Given the description of an element on the screen output the (x, y) to click on. 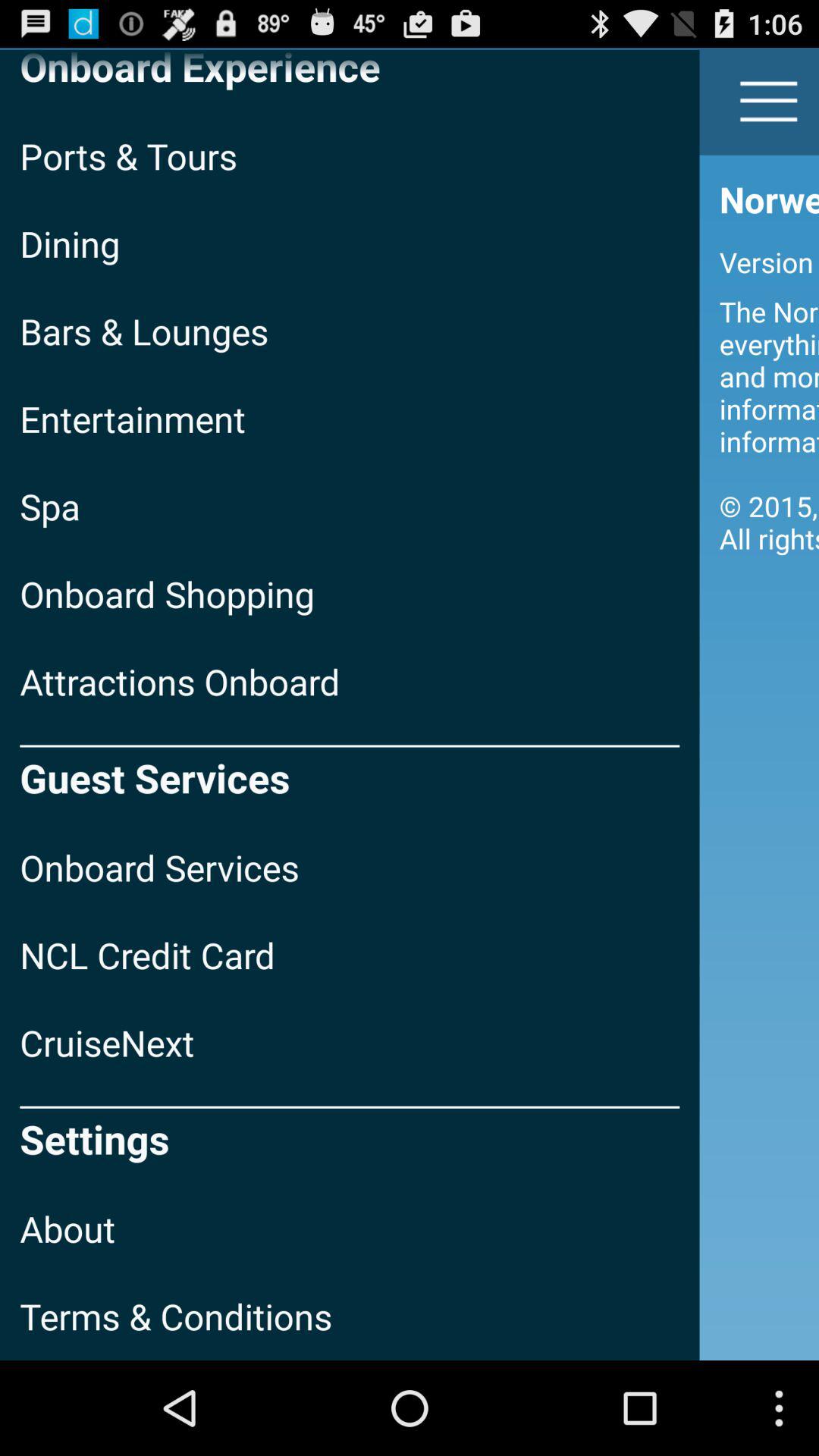
choose the icon next to onboard experience (769, 101)
